Given the description of an element on the screen output the (x, y) to click on. 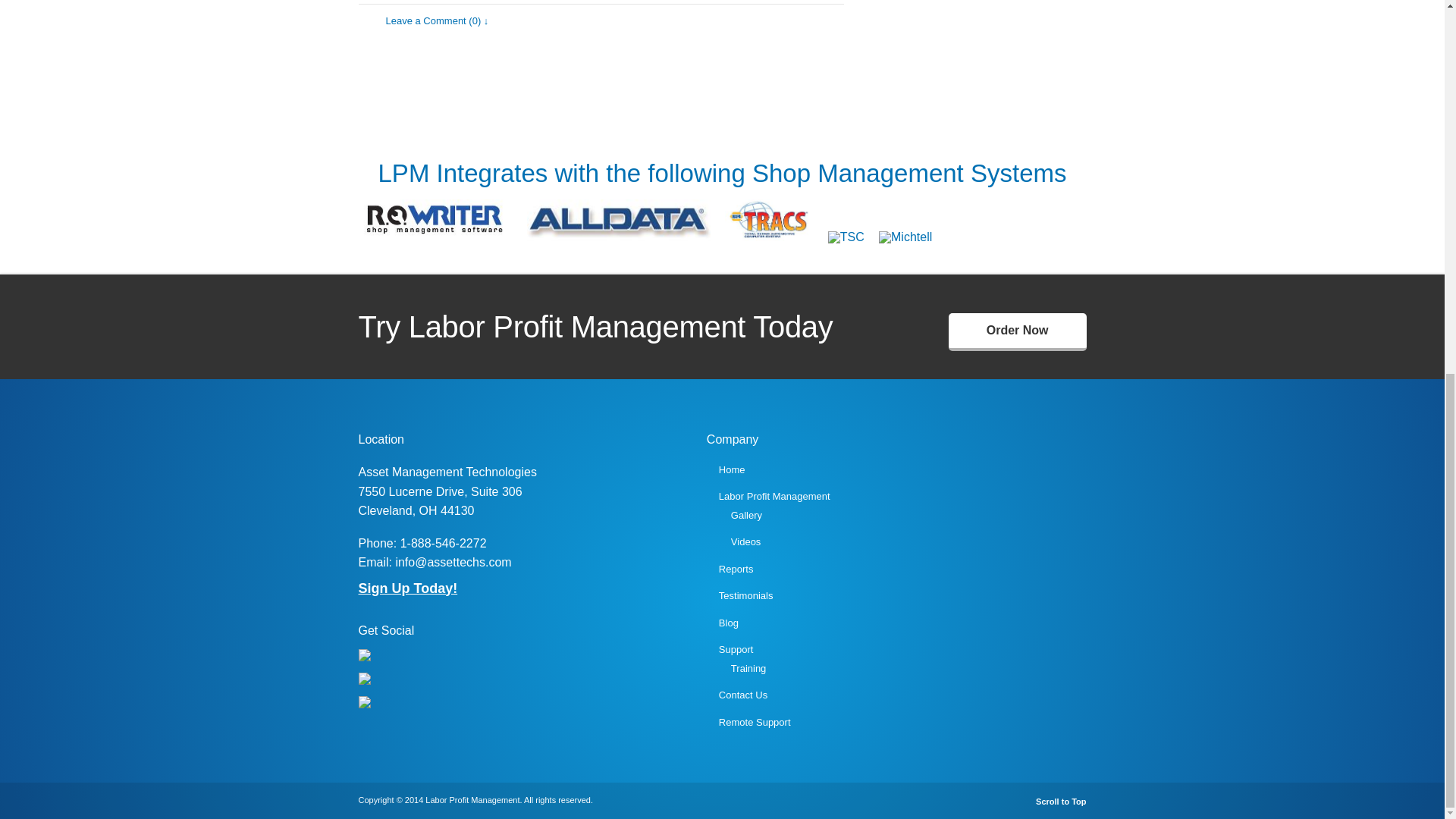
Home (732, 469)
Order Now (1017, 331)
Sign Up Today! (407, 588)
Labor Profit Management (774, 496)
Testimonials (746, 595)
Videos (745, 541)
Gallery (745, 514)
Reports (736, 568)
